Given the description of an element on the screen output the (x, y) to click on. 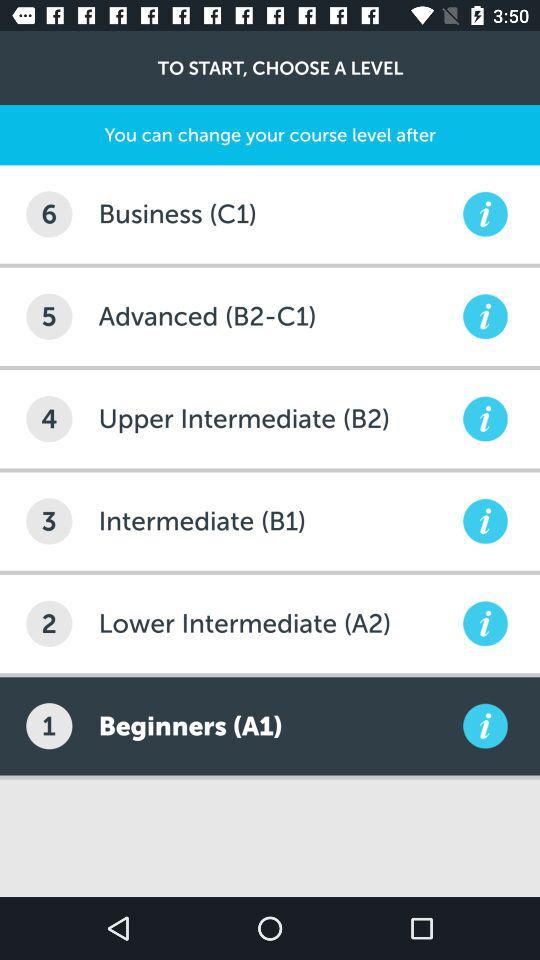
press the item next to business (c1) (49, 214)
